Given the description of an element on the screen output the (x, y) to click on. 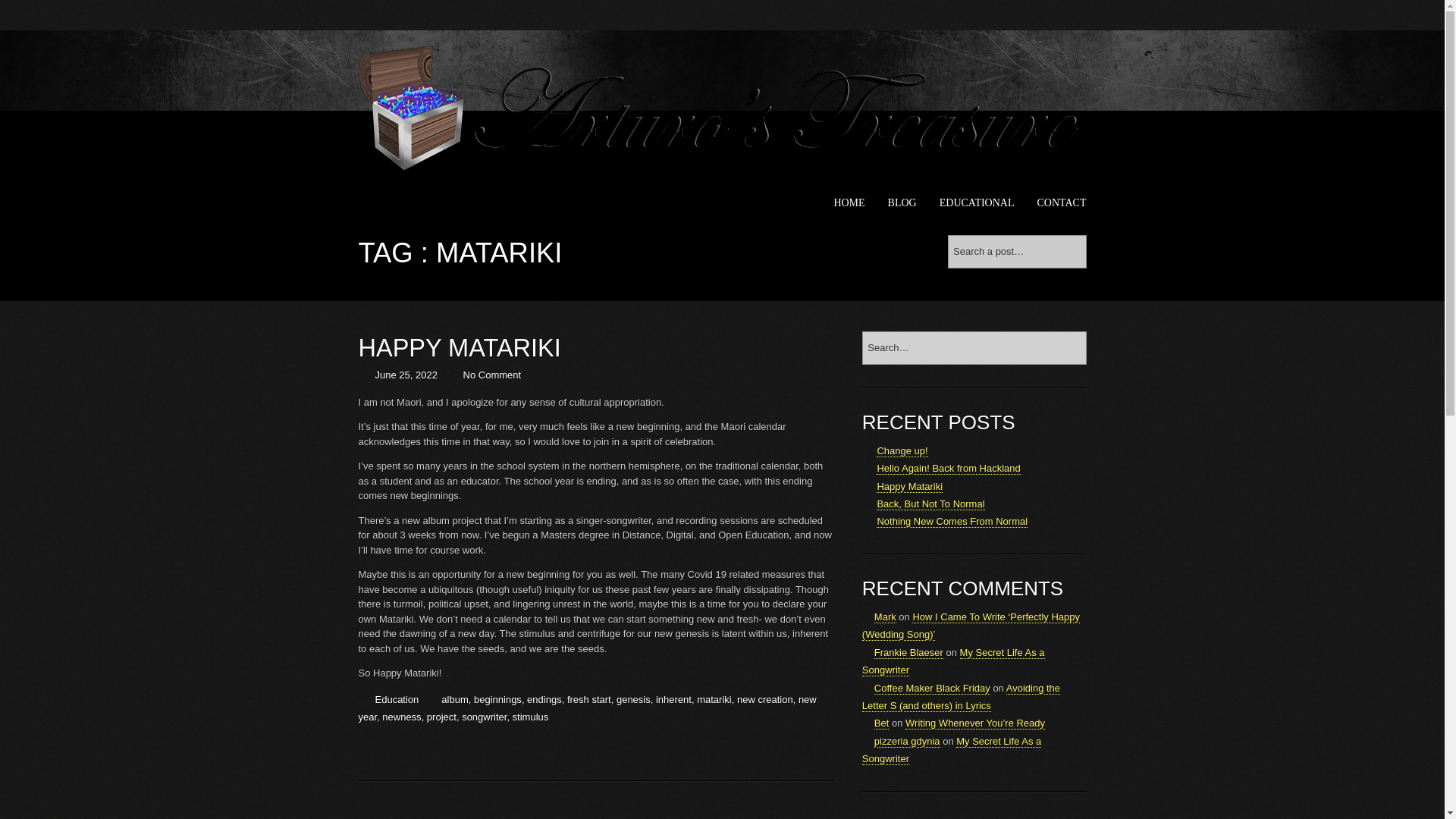
matariki (714, 699)
HOME (848, 202)
Education (396, 699)
Comment on Happy Matariki (492, 374)
CONTACT (1061, 202)
fresh start (589, 699)
No Comment (492, 374)
HAPPY MATARIKI (459, 347)
newness (400, 716)
new creation (764, 699)
